Given the description of an element on the screen output the (x, y) to click on. 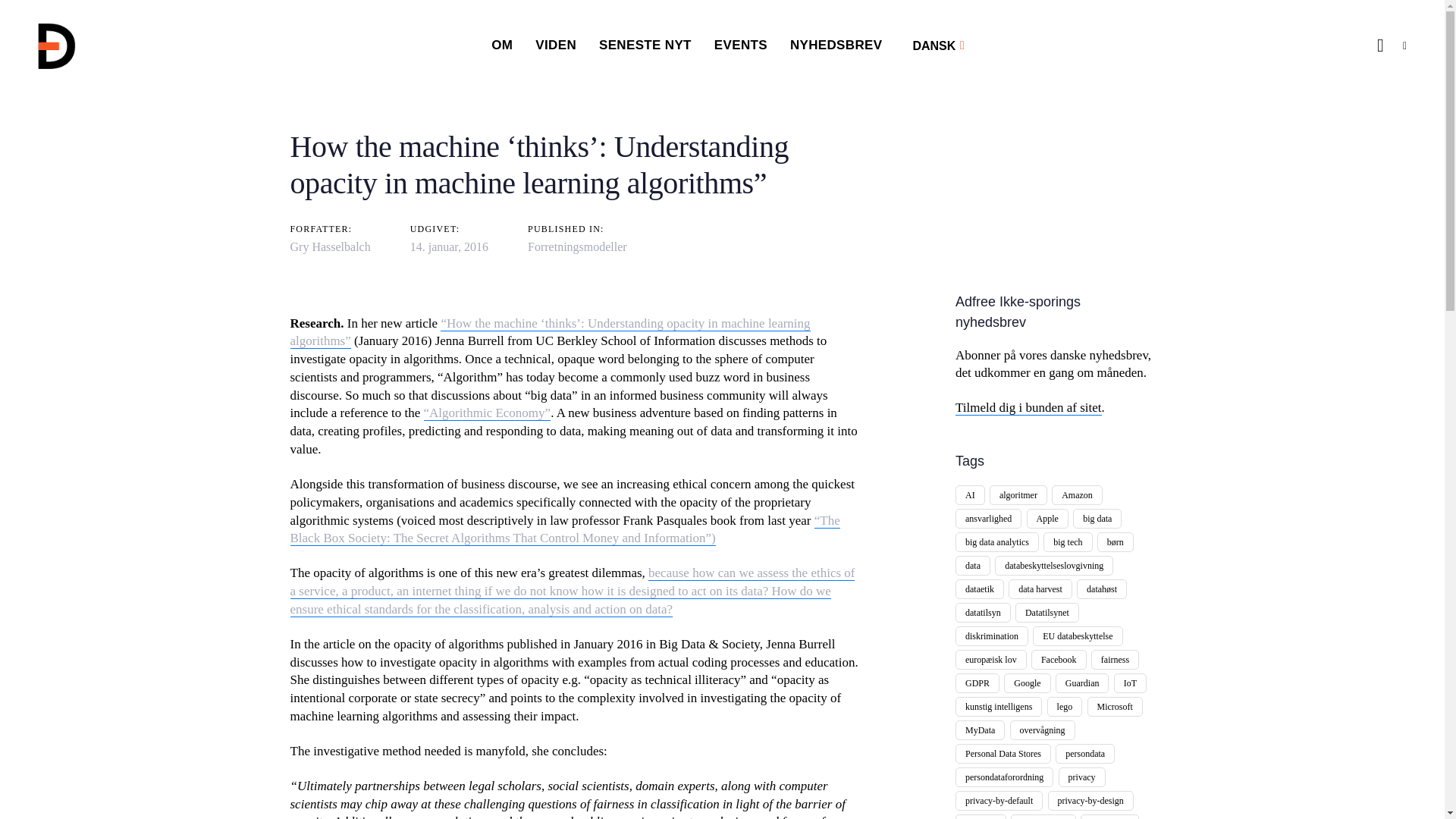
SENESTE NYT (645, 45)
ansvarlighed (988, 518)
AI (970, 495)
Amazon (1076, 495)
NYHEDSBREV (835, 45)
Tilmeld dig i bunden af sitet (1028, 407)
big data (1097, 518)
algoritmer (1018, 495)
big tech (1067, 542)
Apple (1047, 518)
Posts by Gry Hasselbalch (329, 245)
14. januar, 2016 (448, 245)
Forretningsmodeller (577, 245)
Gry Hasselbalch (329, 245)
